Given the description of an element on the screen output the (x, y) to click on. 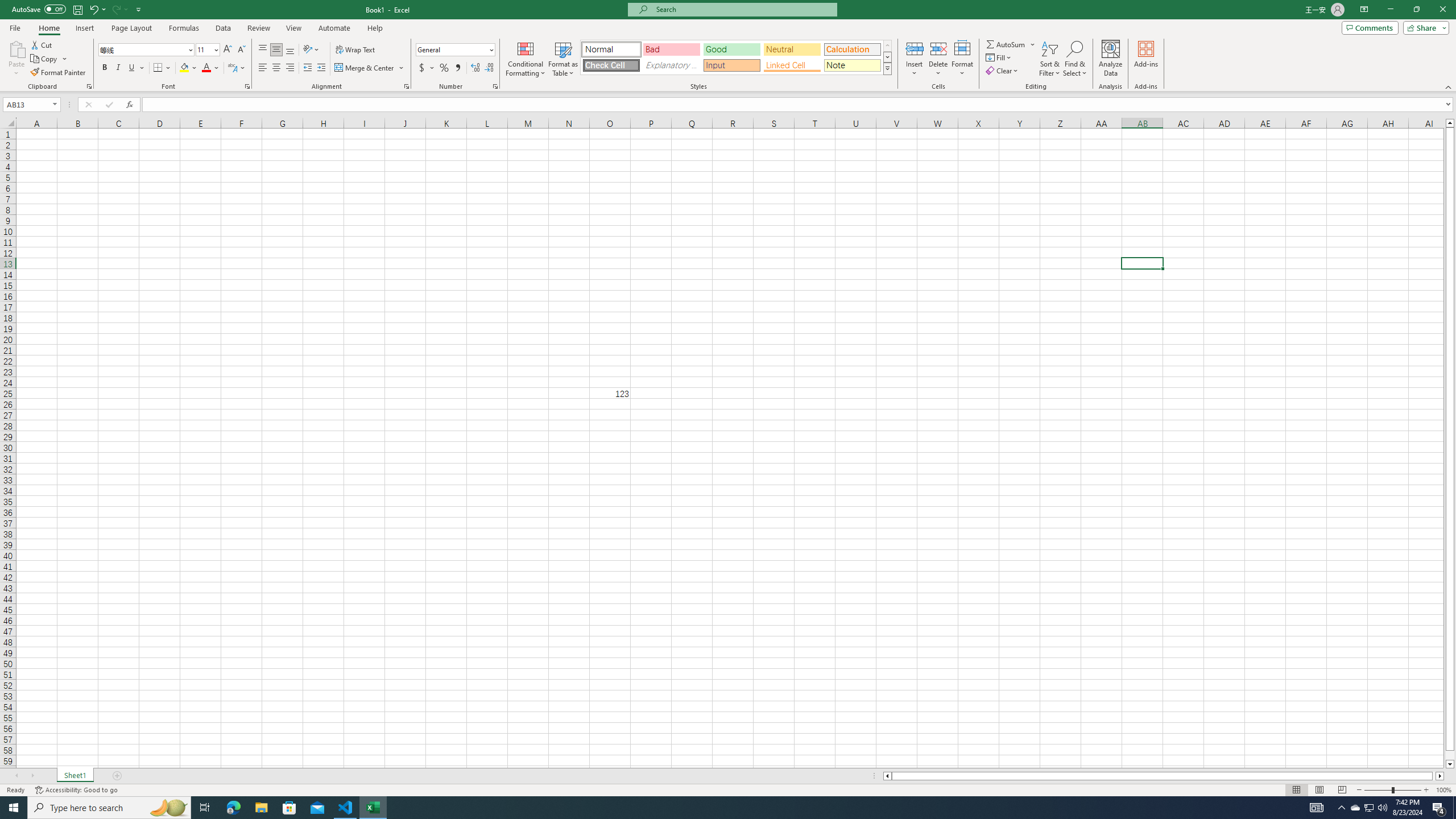
Customize Quick Access Toolbar (139, 9)
Good (731, 49)
Help (374, 28)
Share (1423, 27)
Borders (162, 67)
More Options (1033, 44)
Cut (42, 44)
Top Align (262, 49)
Line up (1449, 122)
Bold (104, 67)
Percent Style (443, 67)
Underline (131, 67)
Insert (914, 58)
Open (54, 104)
